Given the description of an element on the screen output the (x, y) to click on. 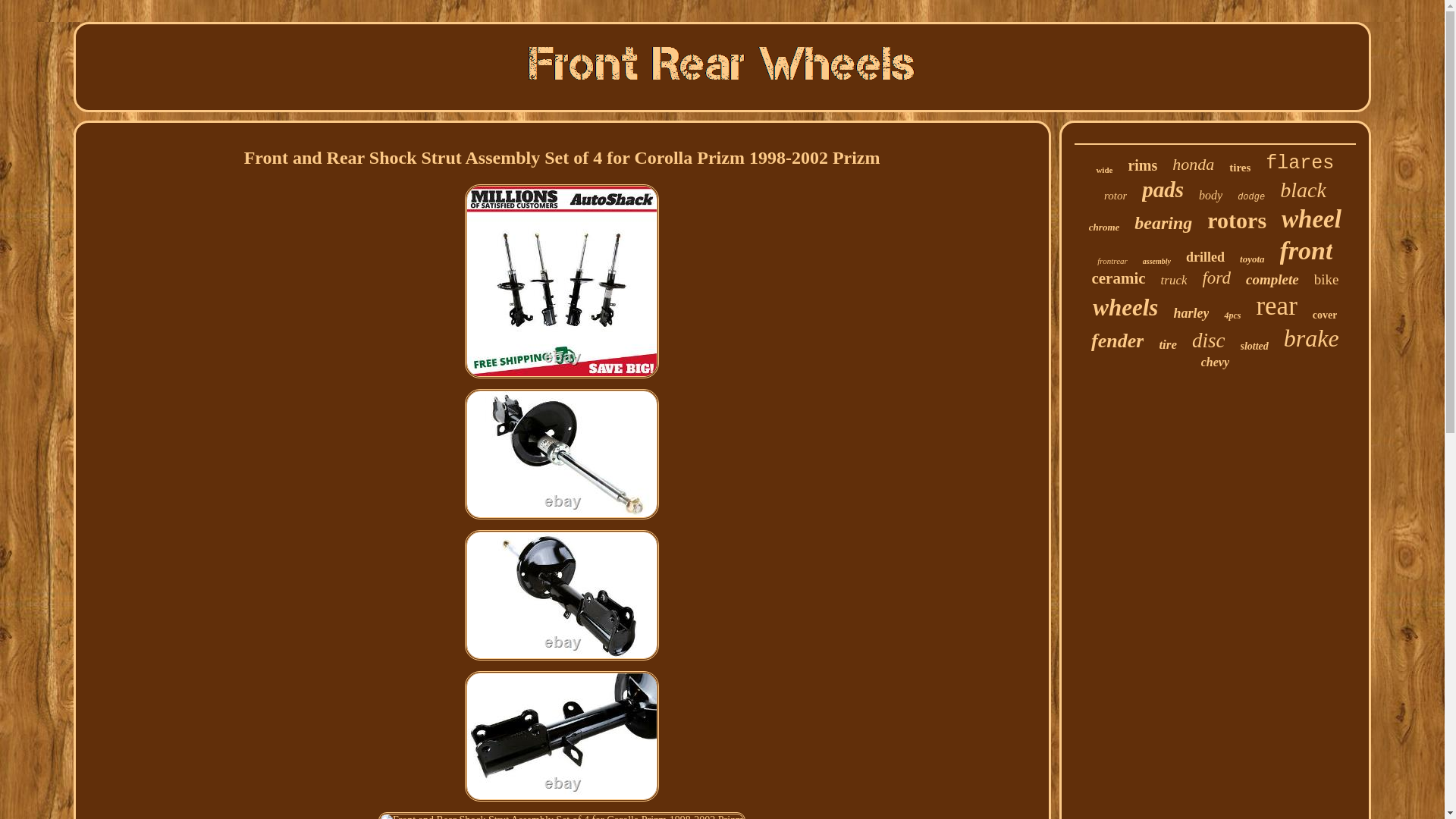
wheels (1125, 307)
bearing (1163, 222)
harley (1190, 313)
tires (1239, 167)
drilled (1205, 257)
rims (1141, 165)
bike (1326, 279)
ceramic (1117, 278)
toyota (1252, 259)
